Given the description of an element on the screen output the (x, y) to click on. 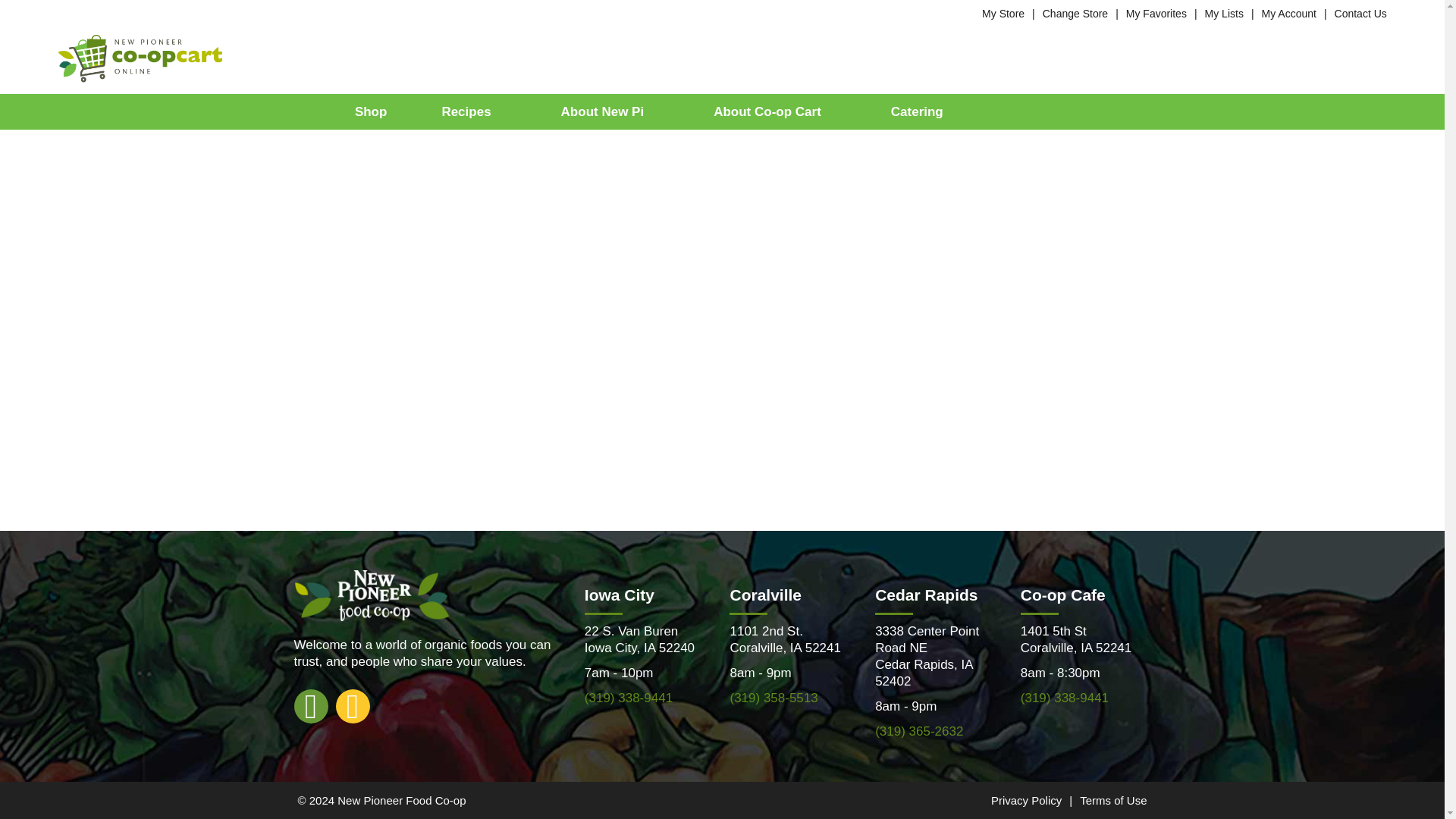
facebook (311, 705)
Contact Us (1361, 13)
Recipes (472, 111)
My Favorites (1155, 13)
Shop (370, 111)
instagram (351, 705)
My Store (1003, 13)
About New Pi (610, 111)
About Co-op Cart (774, 111)
My Lists (1224, 13)
Catering (917, 111)
My Account (1289, 13)
Terms of Use (1113, 799)
Privacy Policy (1026, 799)
Change Store (1075, 13)
